Given the description of an element on the screen output the (x, y) to click on. 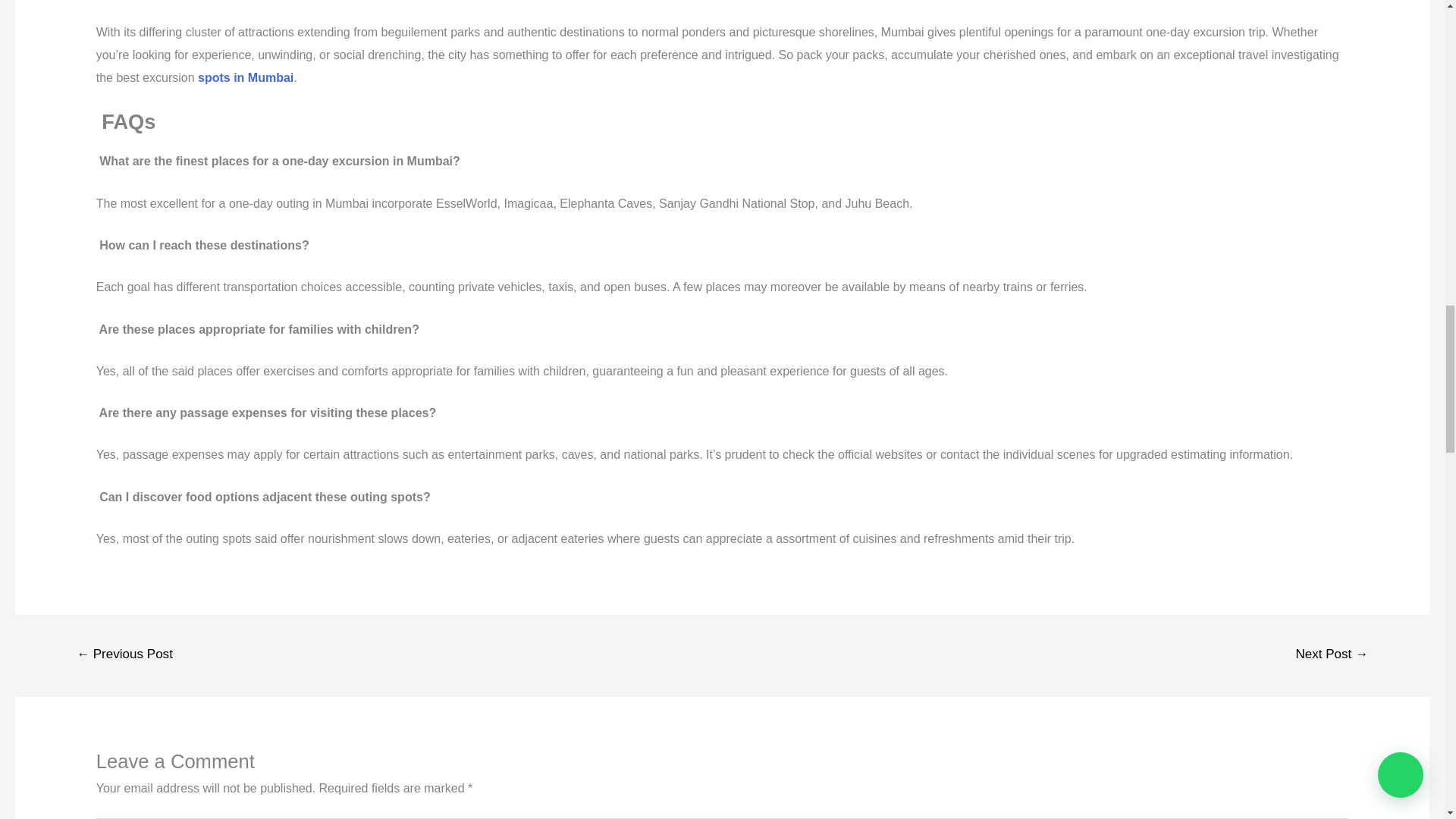
spots in Mumbai (246, 77)
